Given the description of an element on the screen output the (x, y) to click on. 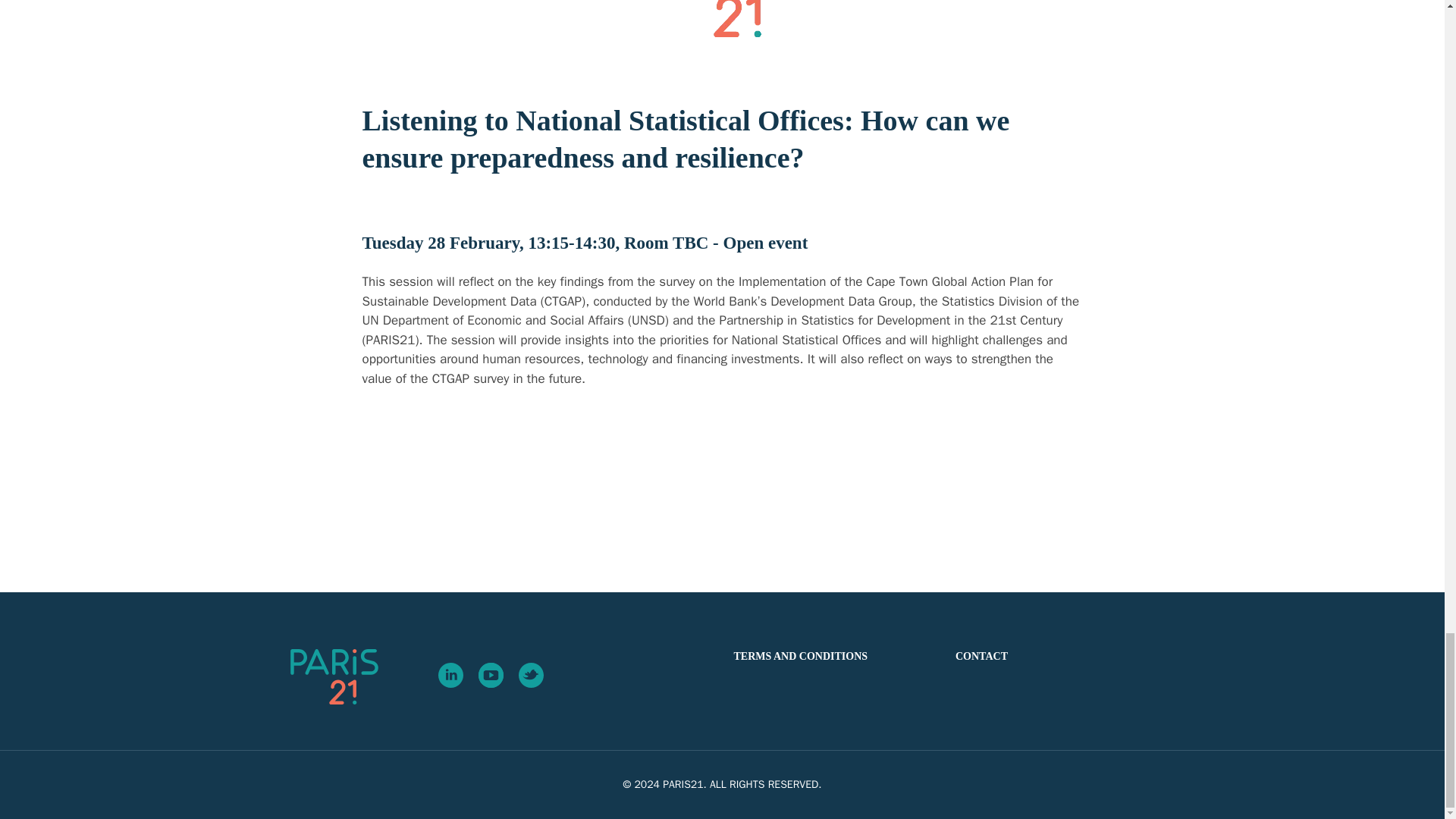
TERMS AND CONDITIONS (800, 655)
LinkedIn (450, 674)
CONTACT (981, 655)
YouTube (489, 674)
Twitter (530, 674)
